Given the description of an element on the screen output the (x, y) to click on. 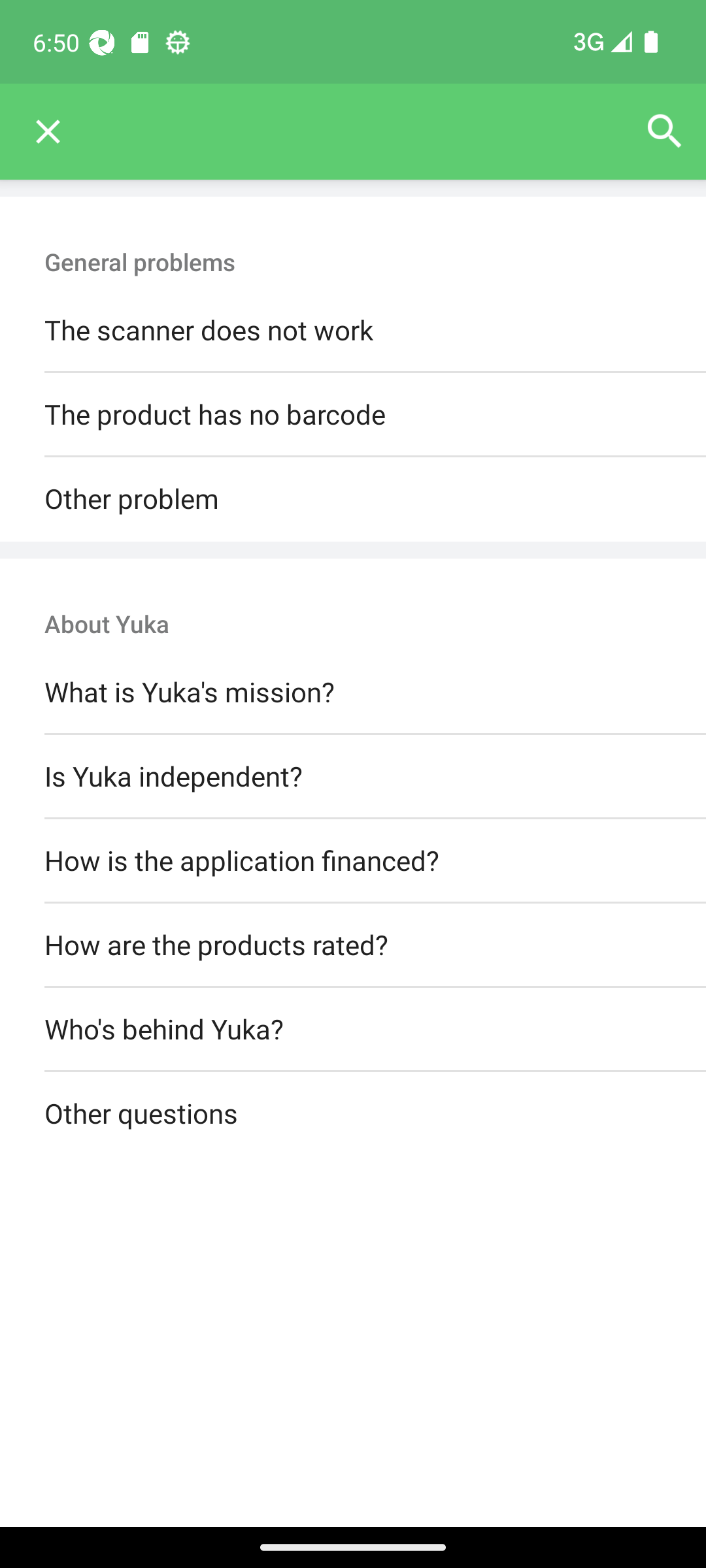
Search (664, 131)
The scanner does not work (353, 330)
The product has no barcode (353, 415)
Other problem (353, 498)
What is Yuka's mission? (353, 692)
Is Yuka independent? (353, 776)
How is the application financed? (353, 860)
How are the products rated? (353, 945)
Who's behind Yuka? (353, 1029)
Other questions (353, 1114)
